Given the description of an element on the screen output the (x, y) to click on. 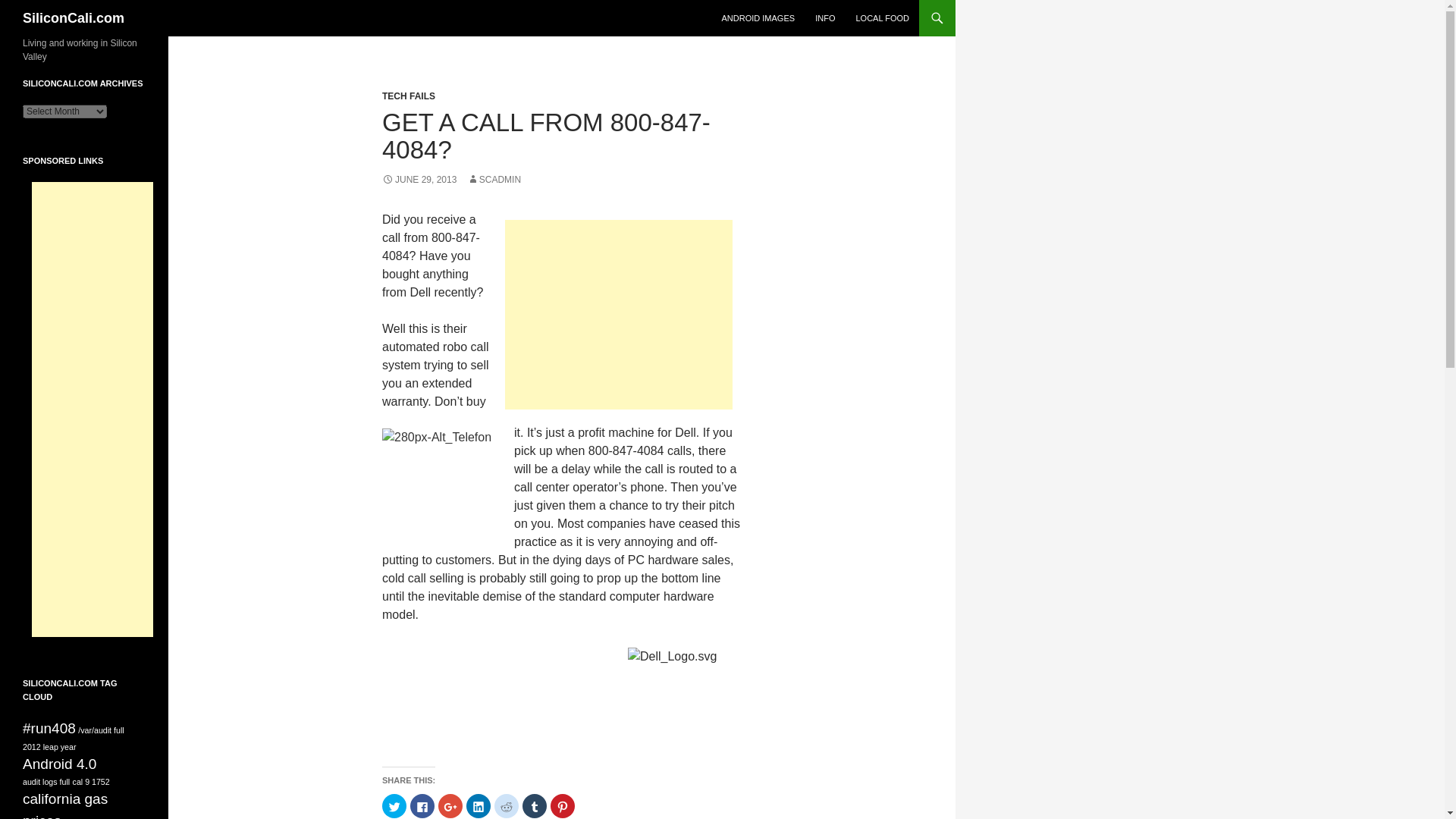
SiliconCali.com (73, 18)
Click to share on Reddit (506, 805)
LOCAL FOOD (881, 18)
Click to share on Tumblr (534, 805)
2012 leap year (50, 746)
Click to share on LinkedIn (477, 805)
Click to share on Facebook (421, 805)
Android 4.0 (59, 763)
Click to share on Twitter (393, 805)
Click to share on Pinterest (562, 805)
TECH FAILS (408, 95)
INFO (825, 18)
JUNE 29, 2013 (419, 179)
cal 9 1752 (91, 781)
SCADMIN (494, 179)
